Given the description of an element on the screen output the (x, y) to click on. 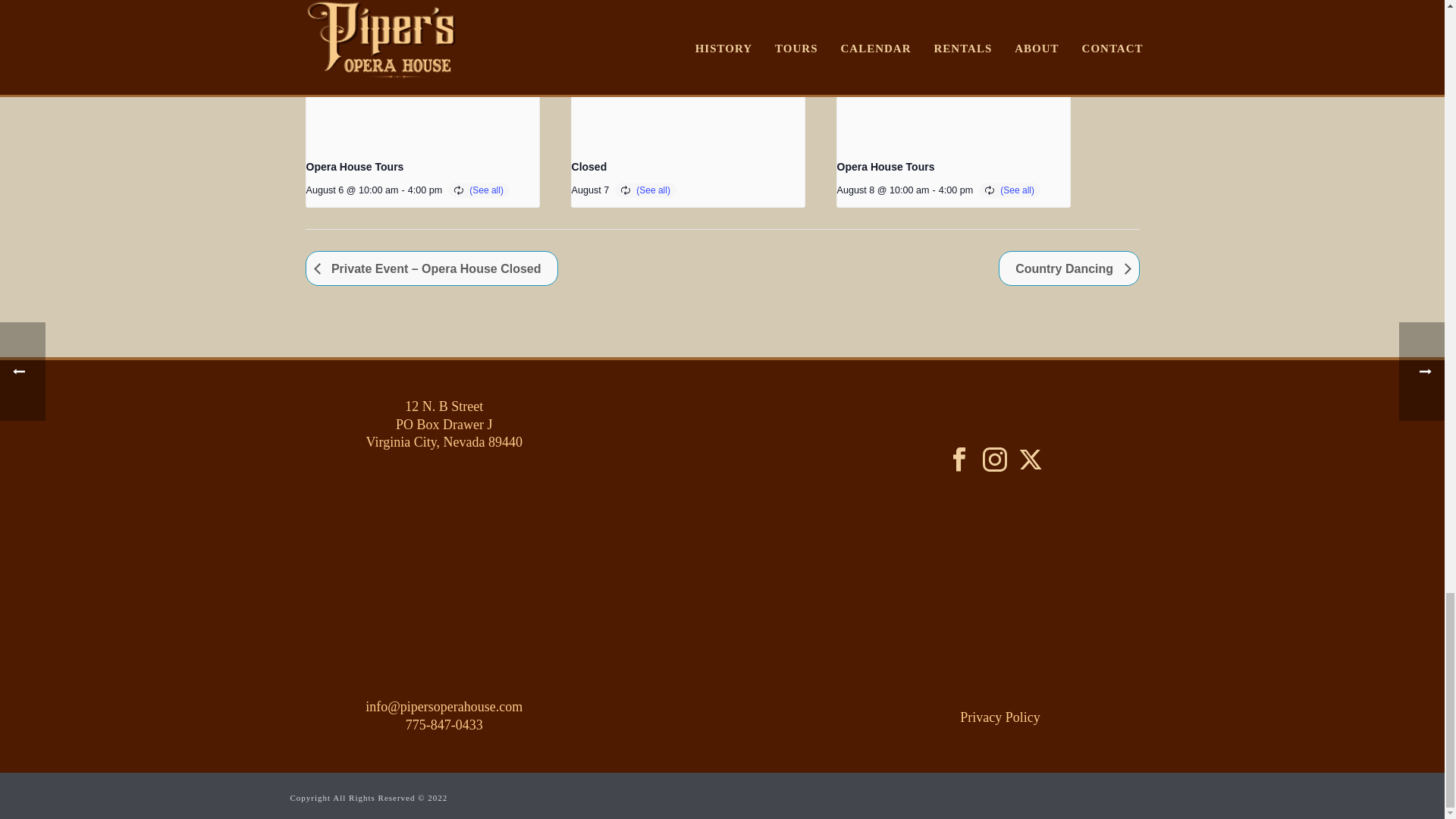
 facebook (959, 460)
 twitter (1029, 460)
Closed (589, 166)
 instagram (994, 460)
Opera House Tours (354, 166)
